Given the description of an element on the screen output the (x, y) to click on. 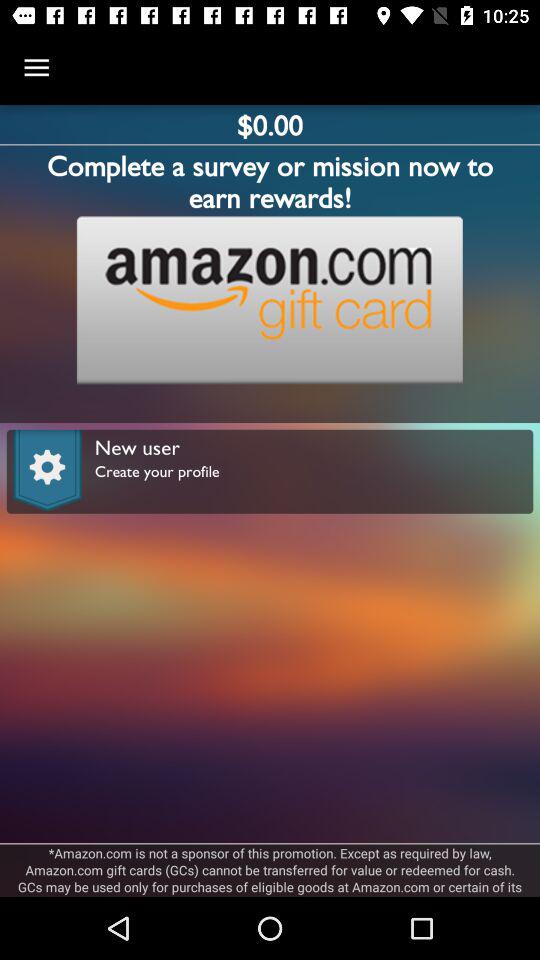
hyperlink button (269, 300)
